Given the description of an element on the screen output the (x, y) to click on. 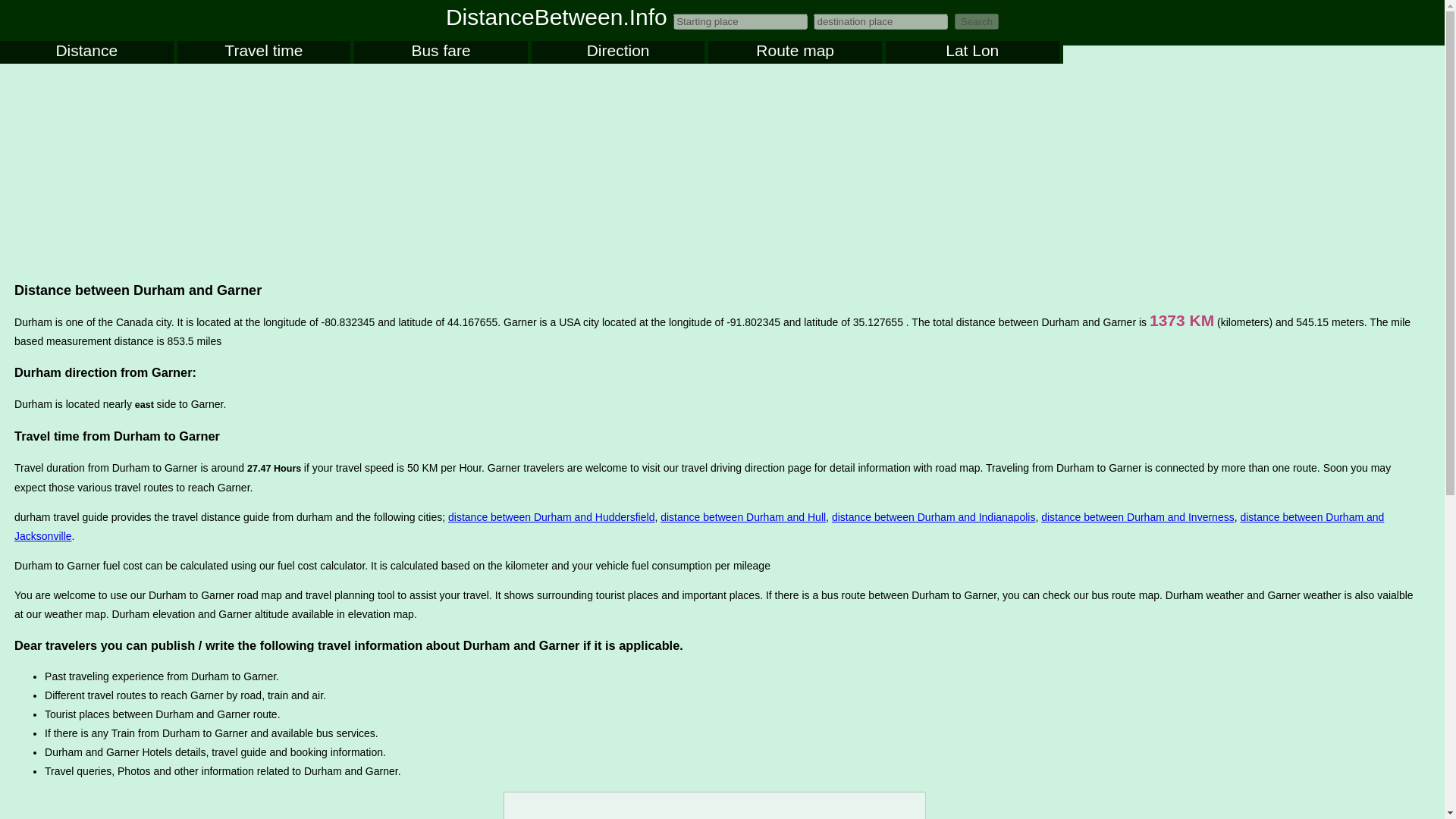
distance between Durham and Jacksonville (699, 526)
Distance (86, 51)
Travel time (263, 51)
Search (976, 21)
distance between Durham and Hull (743, 517)
destination place (880, 21)
Direction (617, 51)
Bus fare (440, 51)
Lat Lon (972, 51)
Starting place (740, 21)
distance between Durham and Indianapolis (933, 517)
Route map (794, 51)
distance between Durham and Inverness (1137, 517)
distance between Durham and Huddersfield (550, 517)
